Given the description of an element on the screen output the (x, y) to click on. 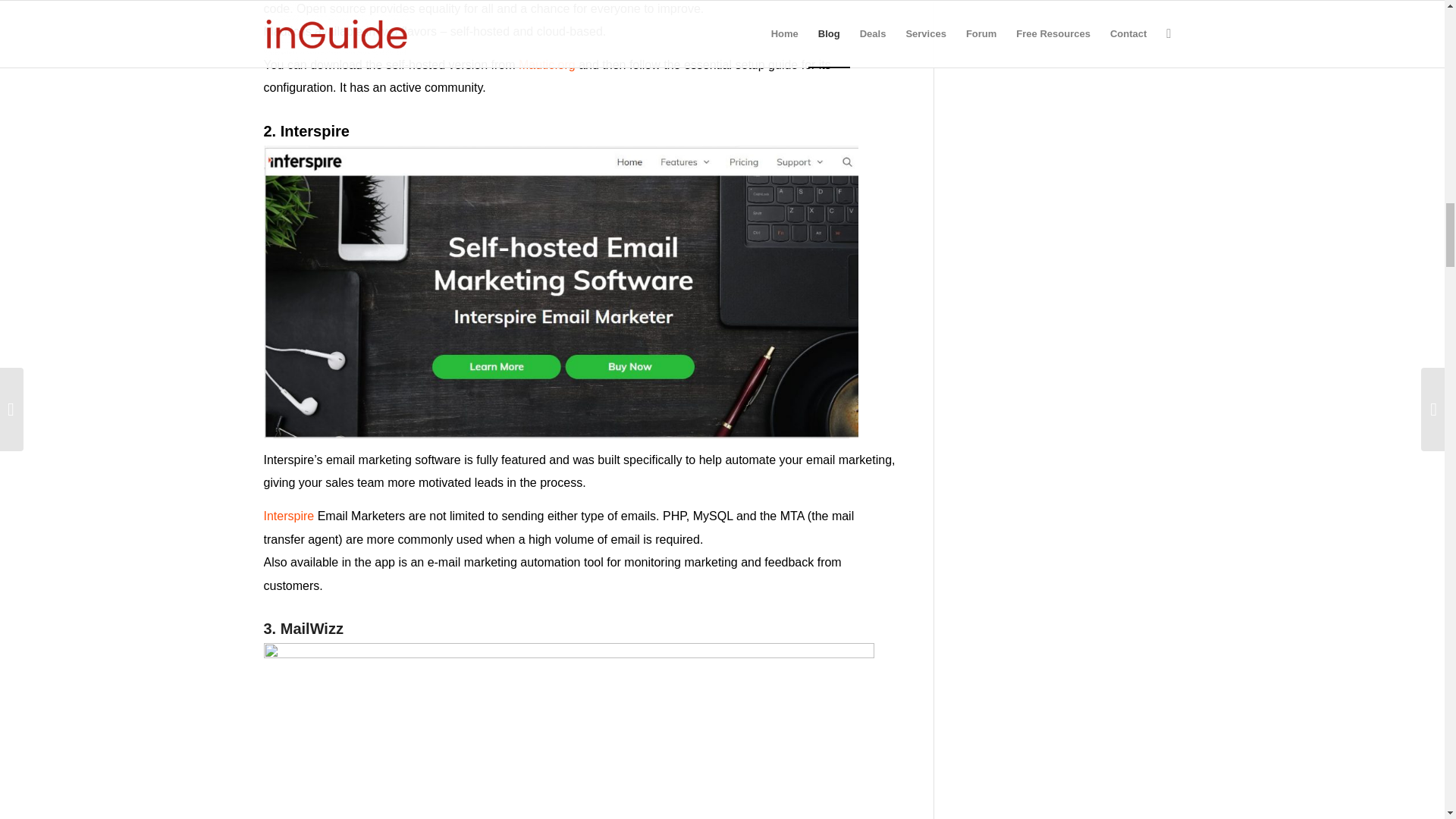
Interspire (288, 515)
Mautic.org (546, 64)
